Given the description of an element on the screen output the (x, y) to click on. 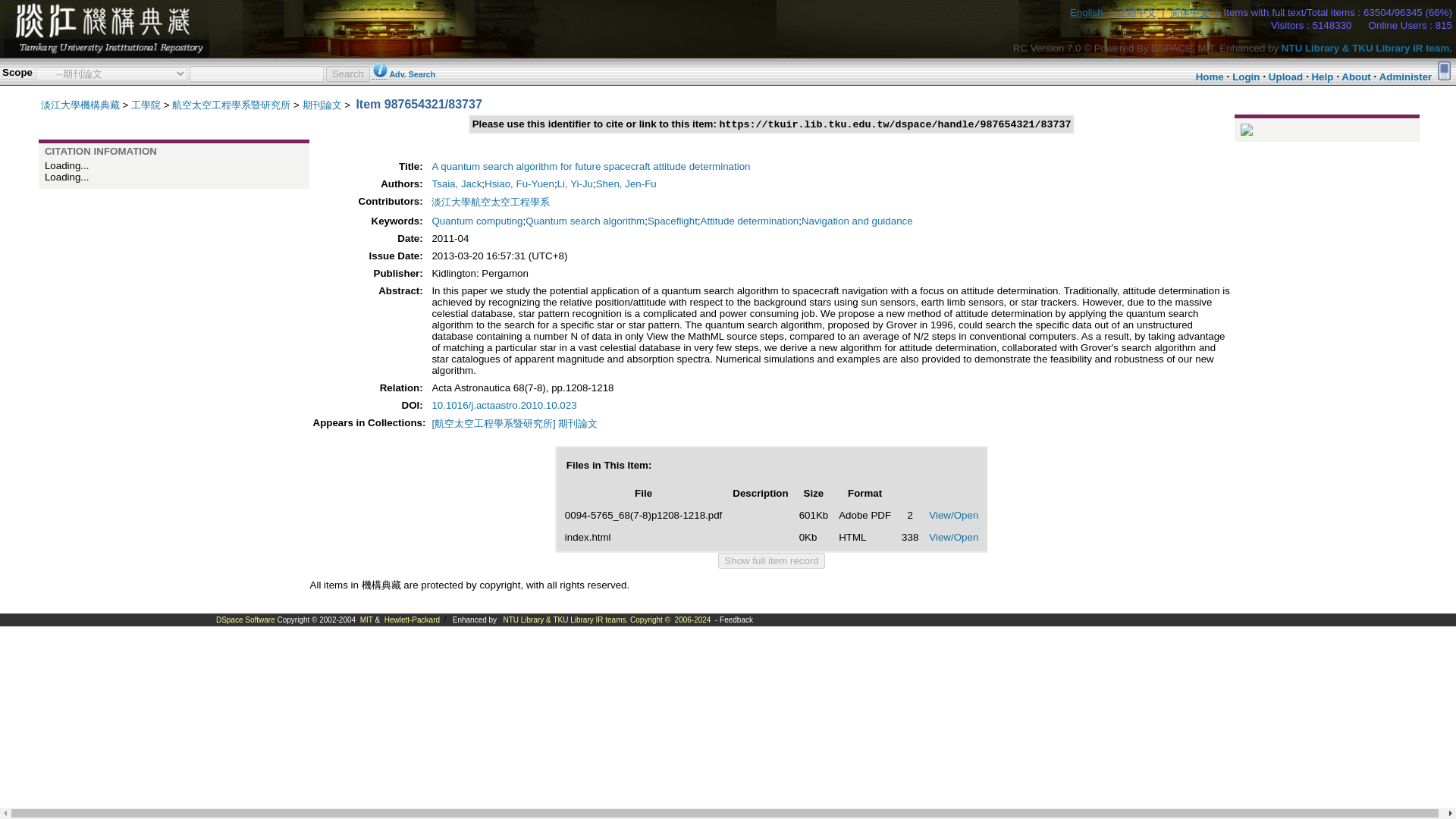
Login (1245, 76)
Tsaia, Jack (455, 183)
Attitude determination (749, 220)
MIT (365, 619)
About (1355, 76)
Help (1322, 76)
Li, Yi-Ju (574, 183)
Show full item record (770, 560)
Navigation and guidance (857, 220)
